Given the description of an element on the screen output the (x, y) to click on. 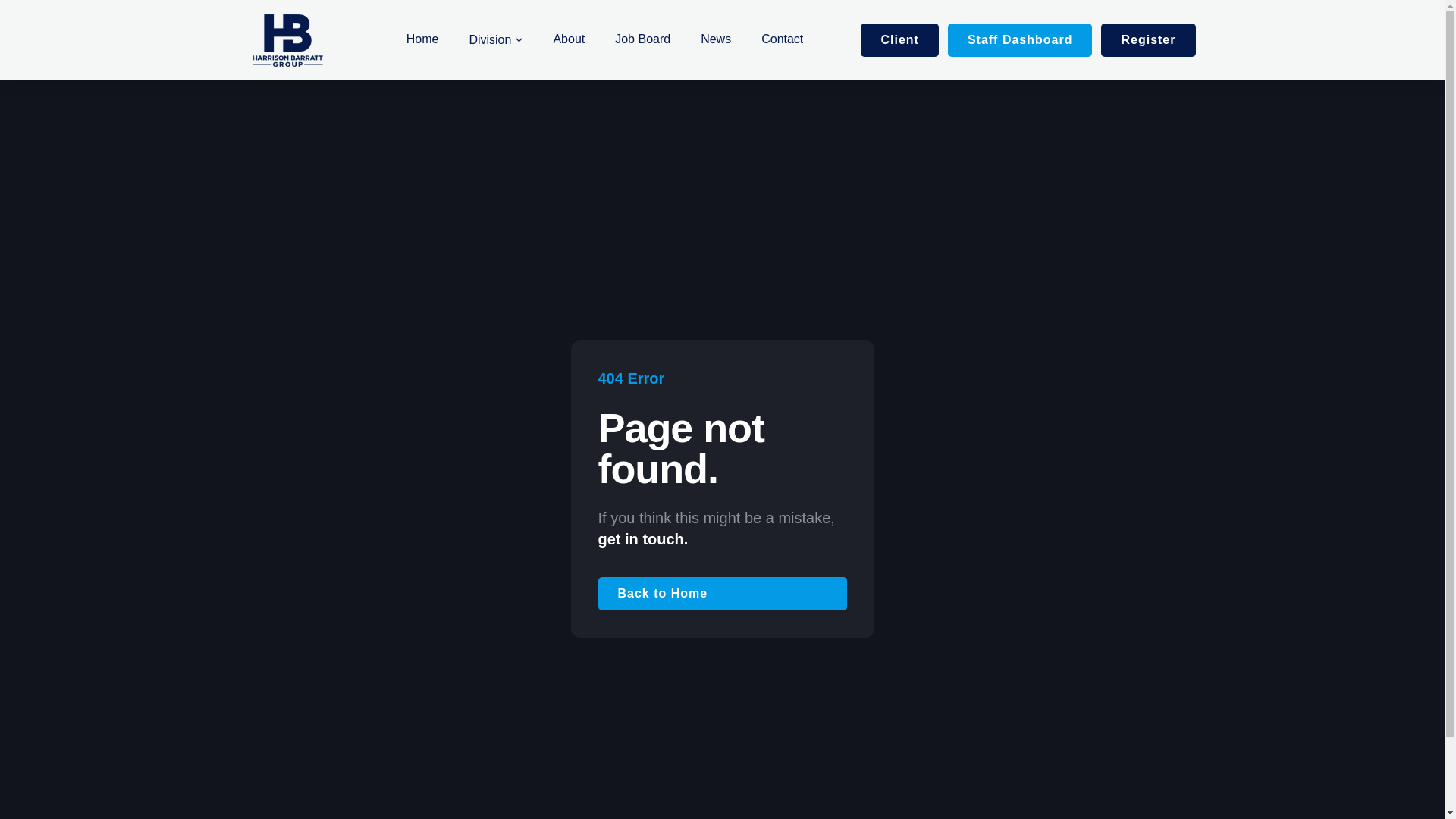
News Element type: text (715, 39)
Contact Element type: text (782, 39)
Home Element type: text (422, 39)
Job Board Element type: text (642, 39)
About Element type: text (568, 39)
Client Element type: text (899, 39)
get in touch. Element type: text (642, 538)
Staff Dashboard Element type: text (1019, 39)
Back to Home Element type: text (721, 593)
Register Element type: text (1148, 39)
